Given the description of an element on the screen output the (x, y) to click on. 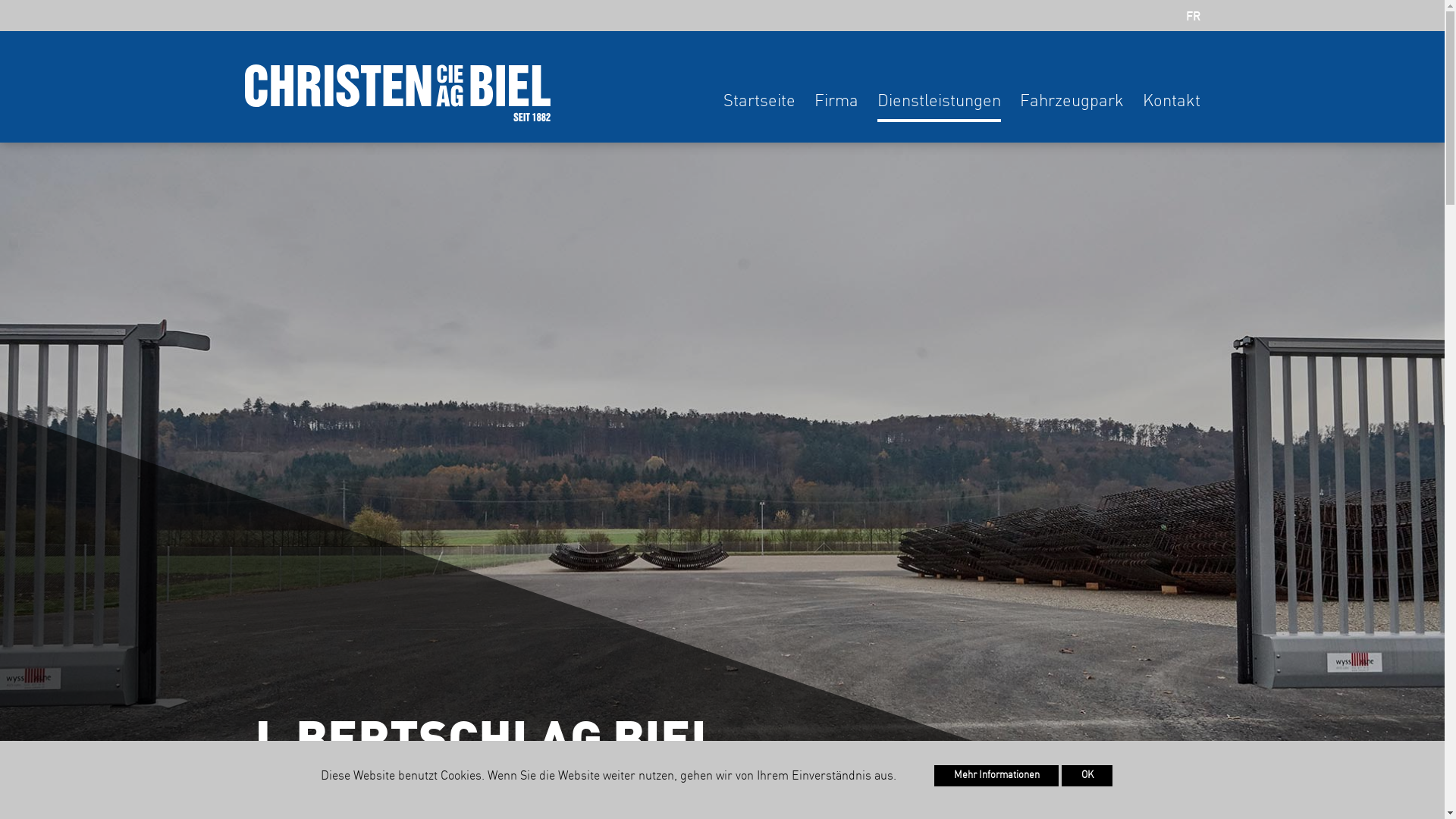
OK Element type: text (1086, 775)
Firma Element type: text (836, 107)
Mehr Informationen Element type: text (996, 775)
FR Element type: text (1193, 16)
Startseite Element type: text (759, 107)
Kontakt Element type: text (1170, 107)
Dienstleistungen Element type: text (938, 107)
Fahrzeugpark Element type: text (1071, 107)
